Given the description of an element on the screen output the (x, y) to click on. 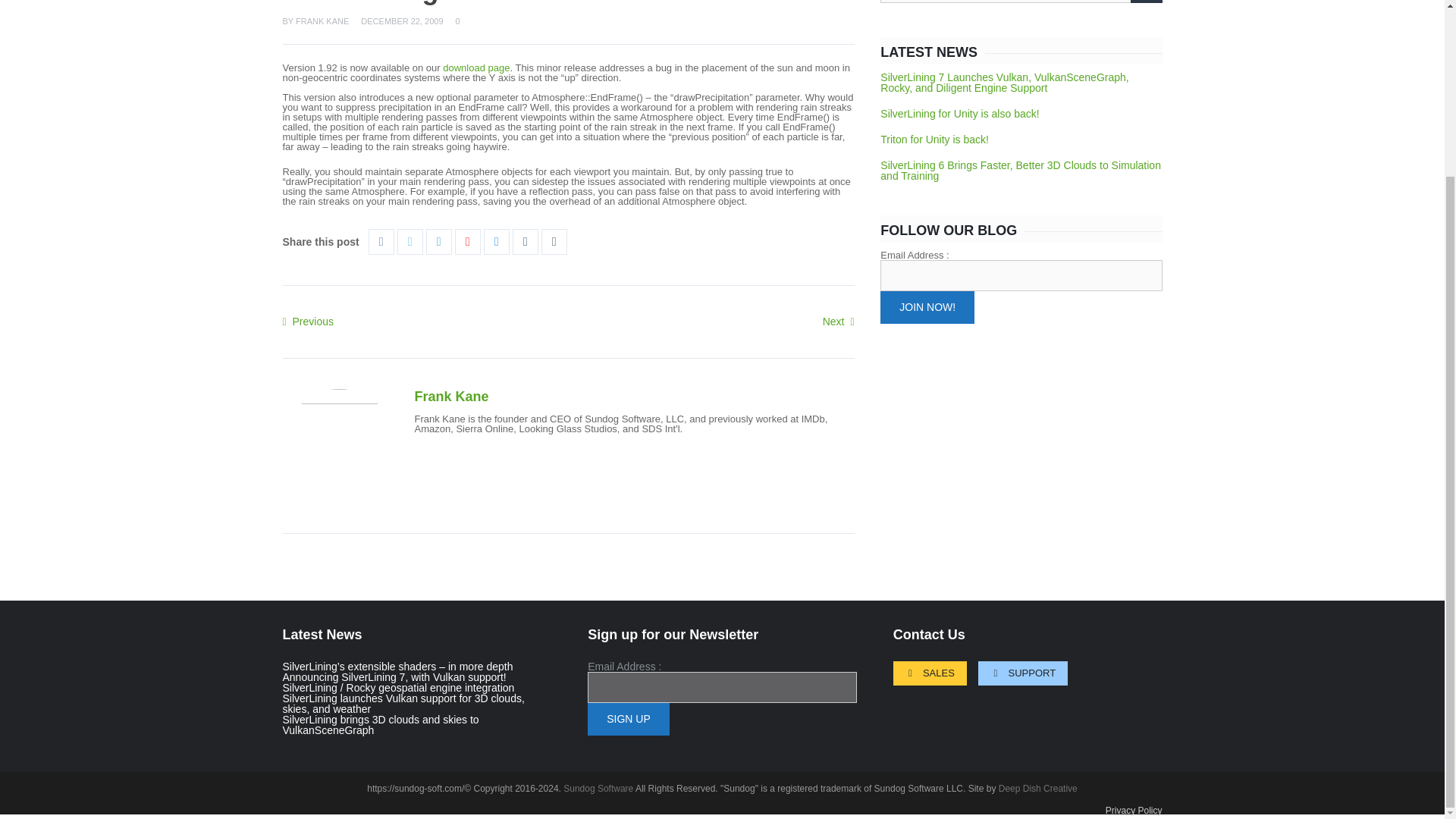
Share on WhatsApp (553, 241)
Share on Twitter (409, 241)
Posts by Frank Kane (450, 396)
Share on Reddit (496, 241)
download page (475, 67)
Search here... (1020, 1)
Join now! (927, 307)
Sign Up (628, 719)
Previous (307, 321)
Share on Facebook (381, 241)
Share on Pinterest (467, 241)
Posts by Frank Kane (322, 20)
Search here... (1020, 1)
Share on LinkedIn (438, 241)
Share on Tumblr (525, 241)
